Given the description of an element on the screen output the (x, y) to click on. 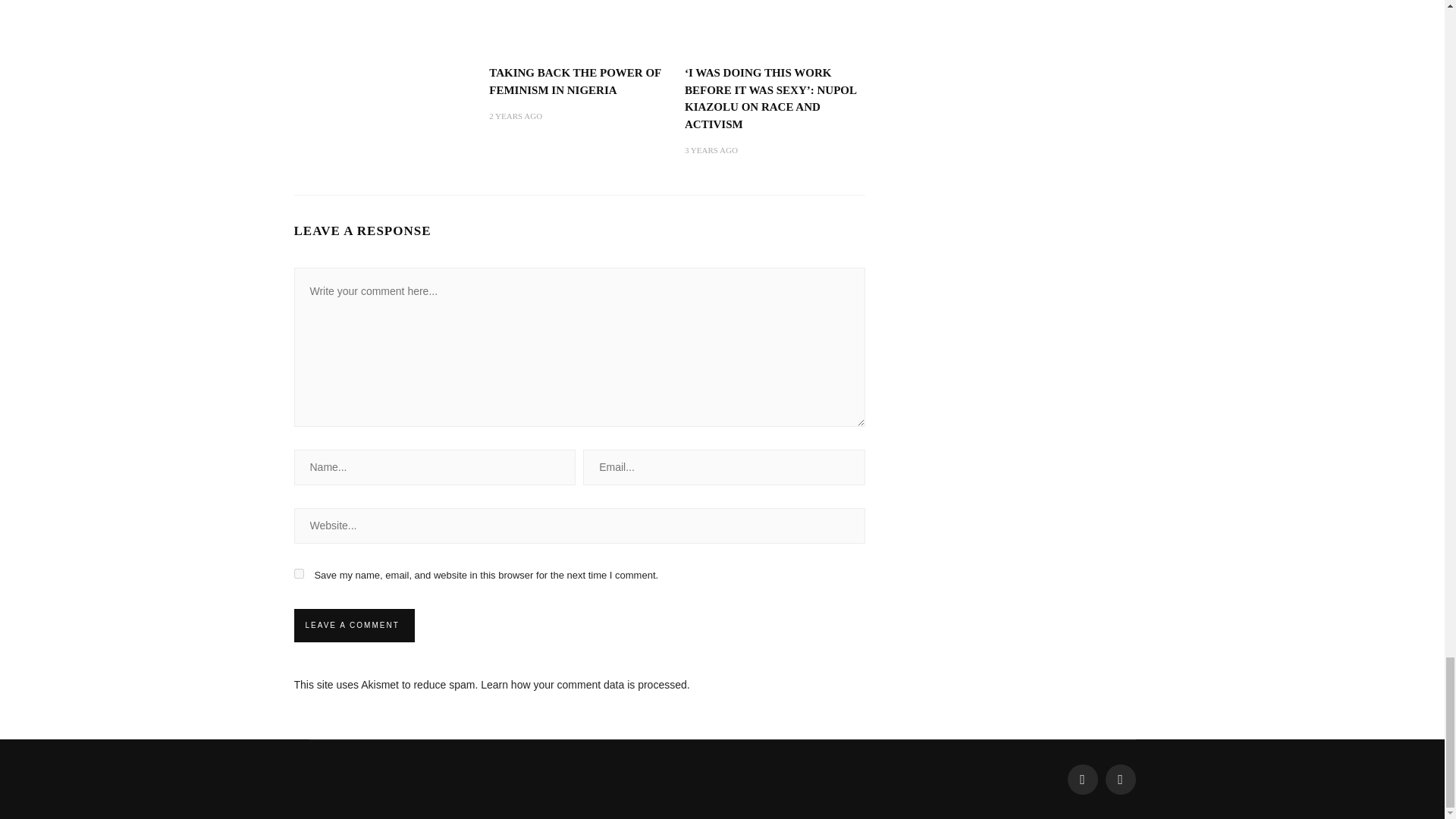
yes (299, 573)
Taking Back The Power Of Feminism In Nigeria (575, 81)
Leave a comment (351, 625)
